Given the description of an element on the screen output the (x, y) to click on. 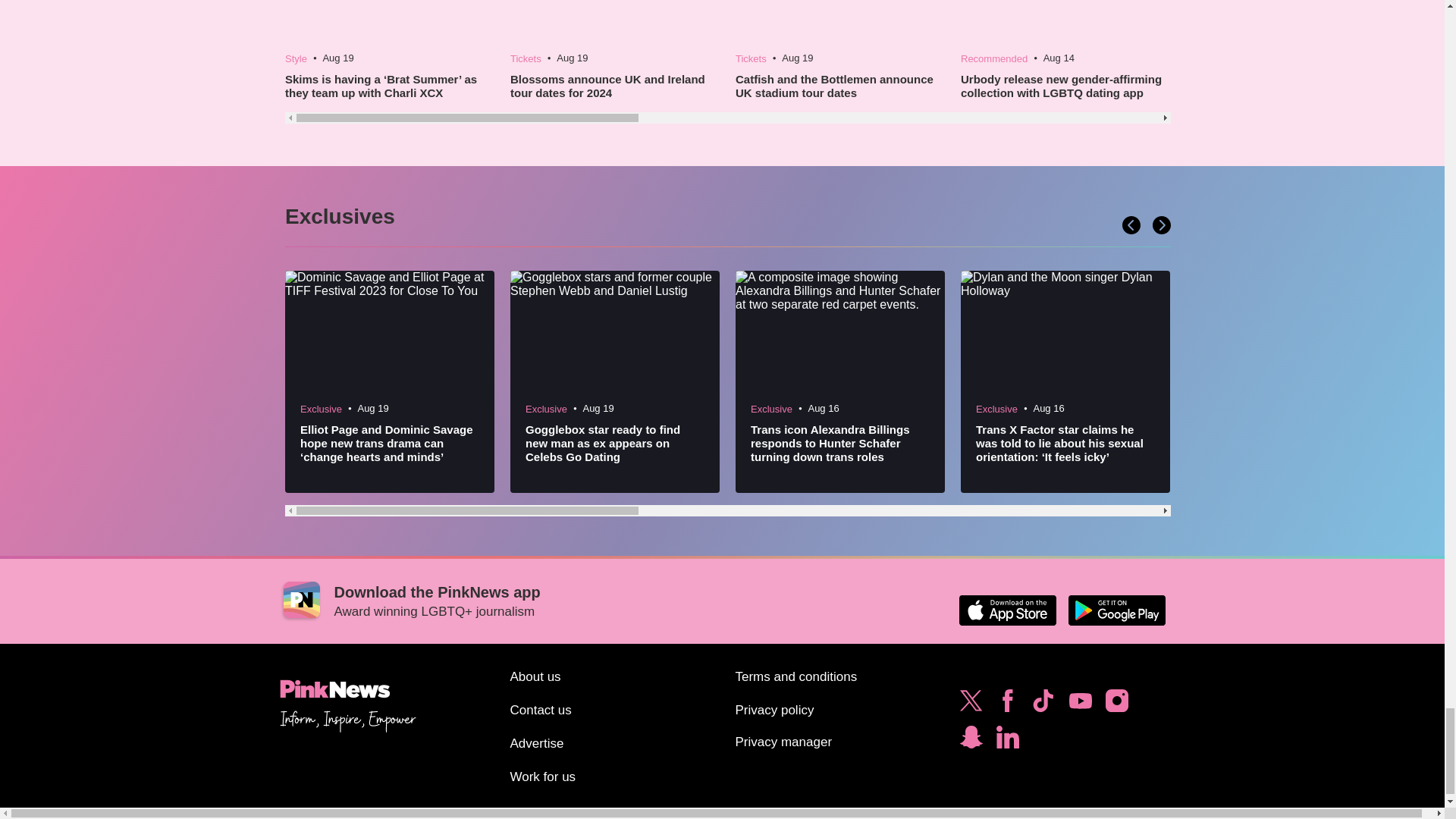
Follow PinkNews on Instagram (1116, 704)
Subscribe to PinkNews on YouTube (1079, 704)
Subscribe to PinkNews on Snapchat (970, 740)
Follow PinkNews on Twitter (970, 704)
Download the PinkNews app on Google Play (1115, 610)
Follow PinkNews on LinkedIn (1007, 740)
Download the PinkNews app on the Apple App Store (1006, 610)
Follow PinkNews on TikTok (1042, 704)
